Given the description of an element on the screen output the (x, y) to click on. 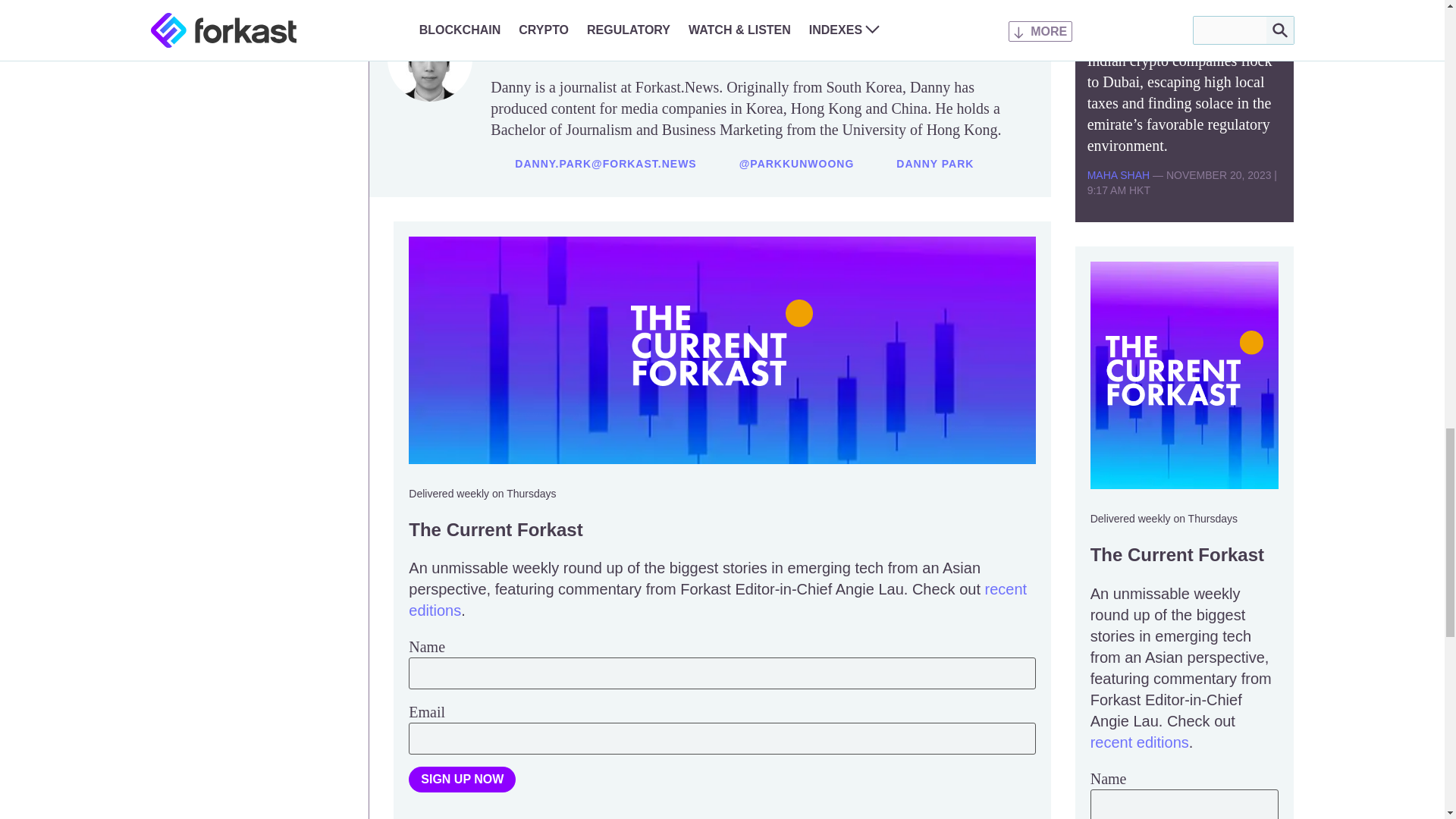
Posts by Maha Shah (1118, 174)
Sign up now (462, 779)
